Given the description of an element on the screen output the (x, y) to click on. 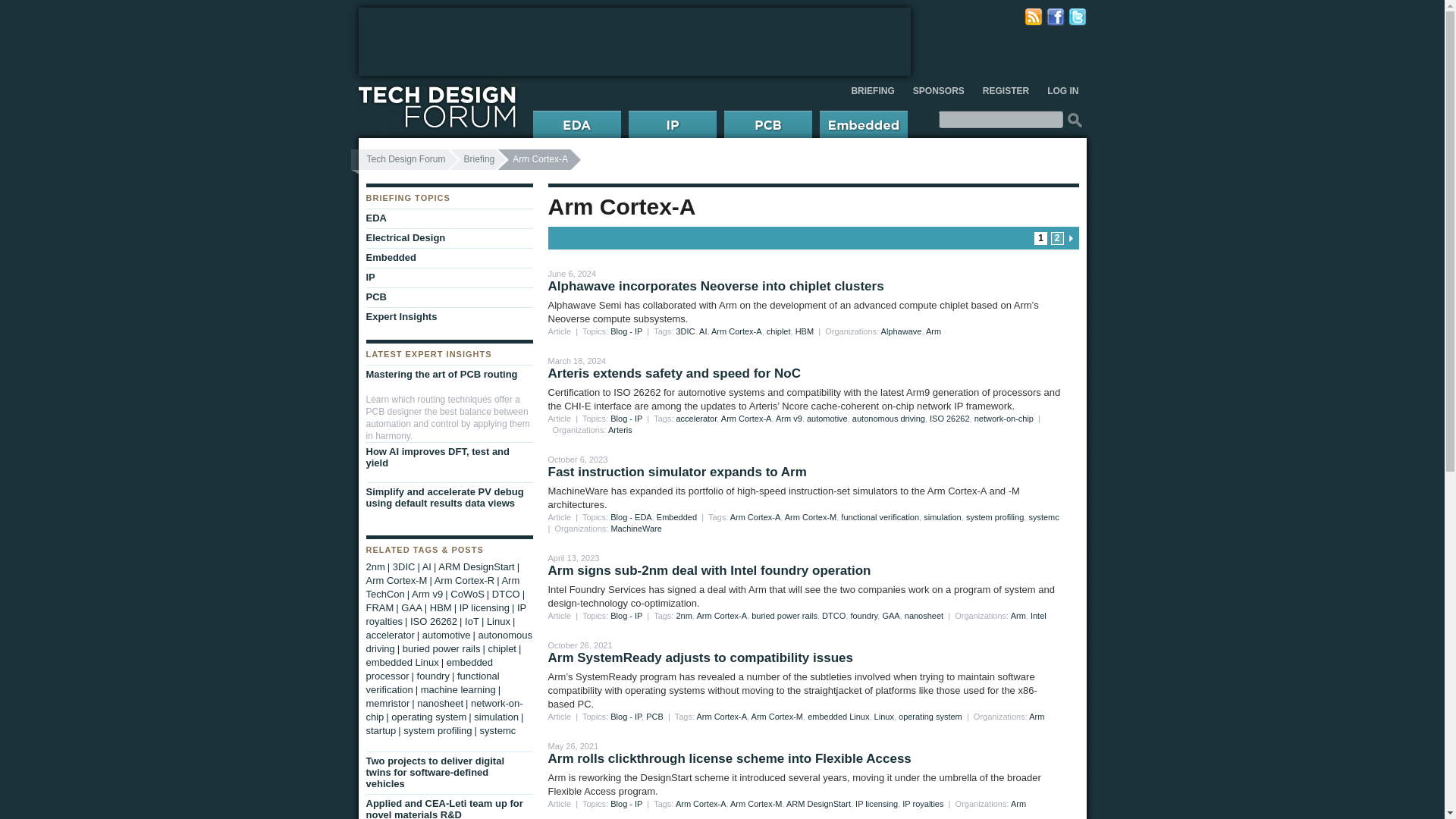
Arm Cortex-A (720, 614)
Permalink to Arteris extends safety and speed for NoC (673, 373)
system profiling (994, 516)
Arm (933, 330)
ISO 26262 (949, 418)
HBM (803, 330)
Arm Cortex-M (809, 516)
chiplet (778, 330)
Blog - IP (626, 418)
